Given the description of an element on the screen output the (x, y) to click on. 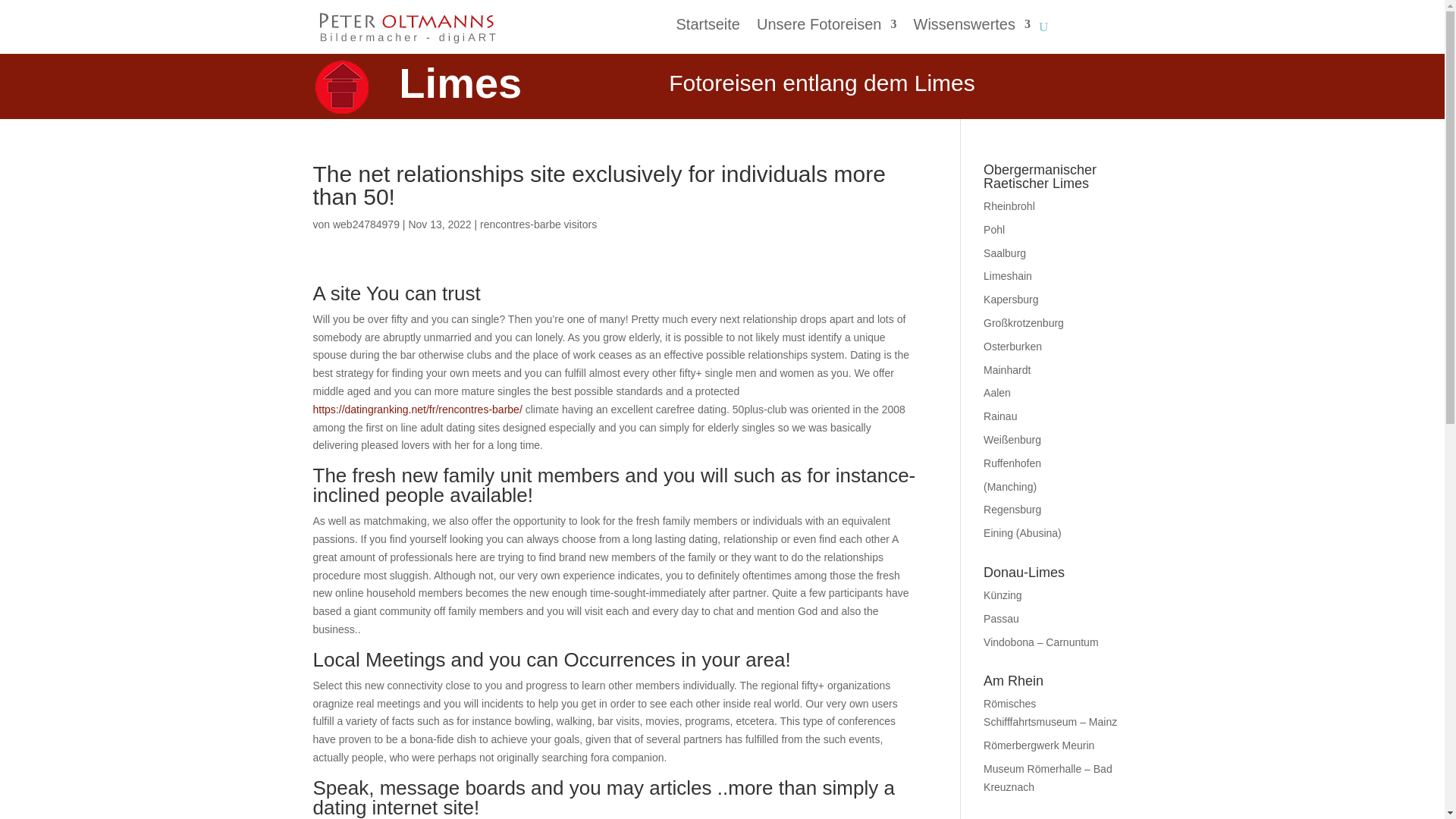
Mainhardt (1007, 369)
Osterburken (1013, 346)
logo (341, 86)
Startseite (707, 27)
Kapersburg (1011, 299)
Saalburg (1005, 253)
Pohl (994, 229)
web24784979 (365, 224)
Ruffenhofen (1012, 463)
Wissenswertes (970, 27)
Rainau (1000, 416)
Limeshain (1008, 275)
Rheinbrohl (1009, 205)
Regensburg (1012, 509)
Aalen (997, 392)
